Given the description of an element on the screen output the (x, y) to click on. 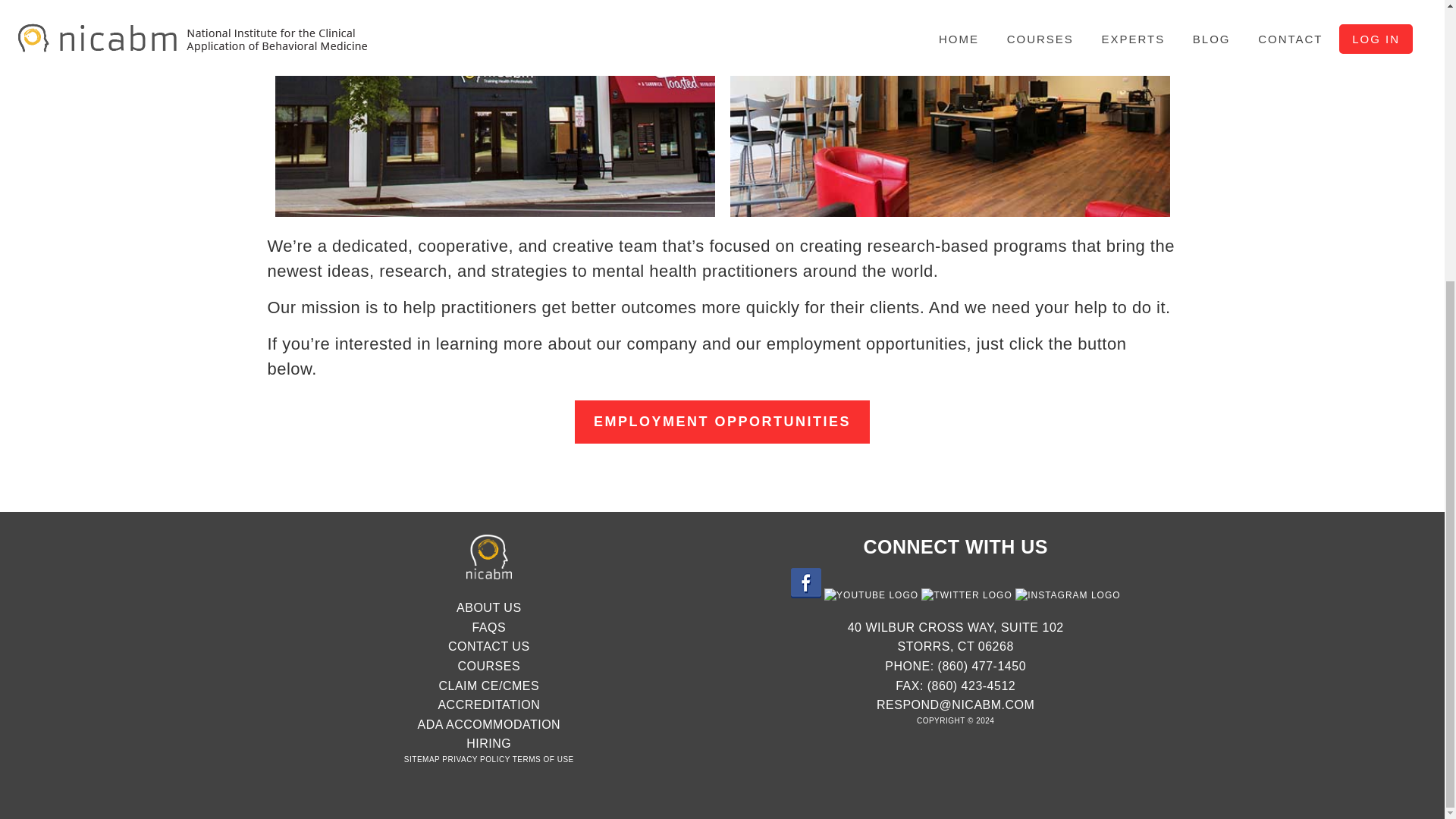
SITEMAP (421, 759)
TERMS OF USE (542, 759)
CONTACT US (488, 645)
HIRING (488, 743)
ABOUT US (489, 607)
ACCREDITATION (489, 704)
EMPLOYMENT OPPORTUNITIES (722, 421)
PRIVACY POLICY (475, 759)
COURSES (488, 666)
FAQS (488, 626)
ADA ACCOMMODATION (488, 724)
